Given the description of an element on the screen output the (x, y) to click on. 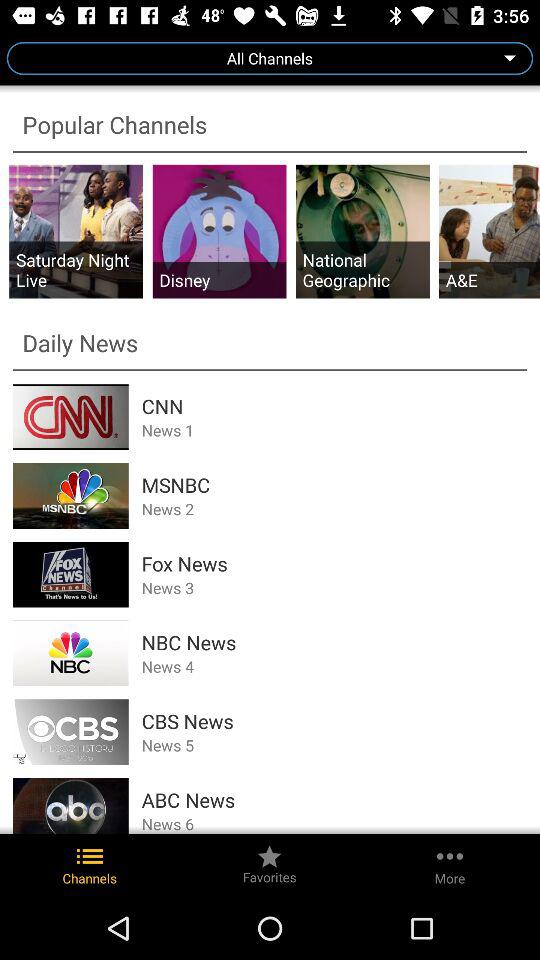
open the abc news app (333, 799)
